Given the description of an element on the screen output the (x, y) to click on. 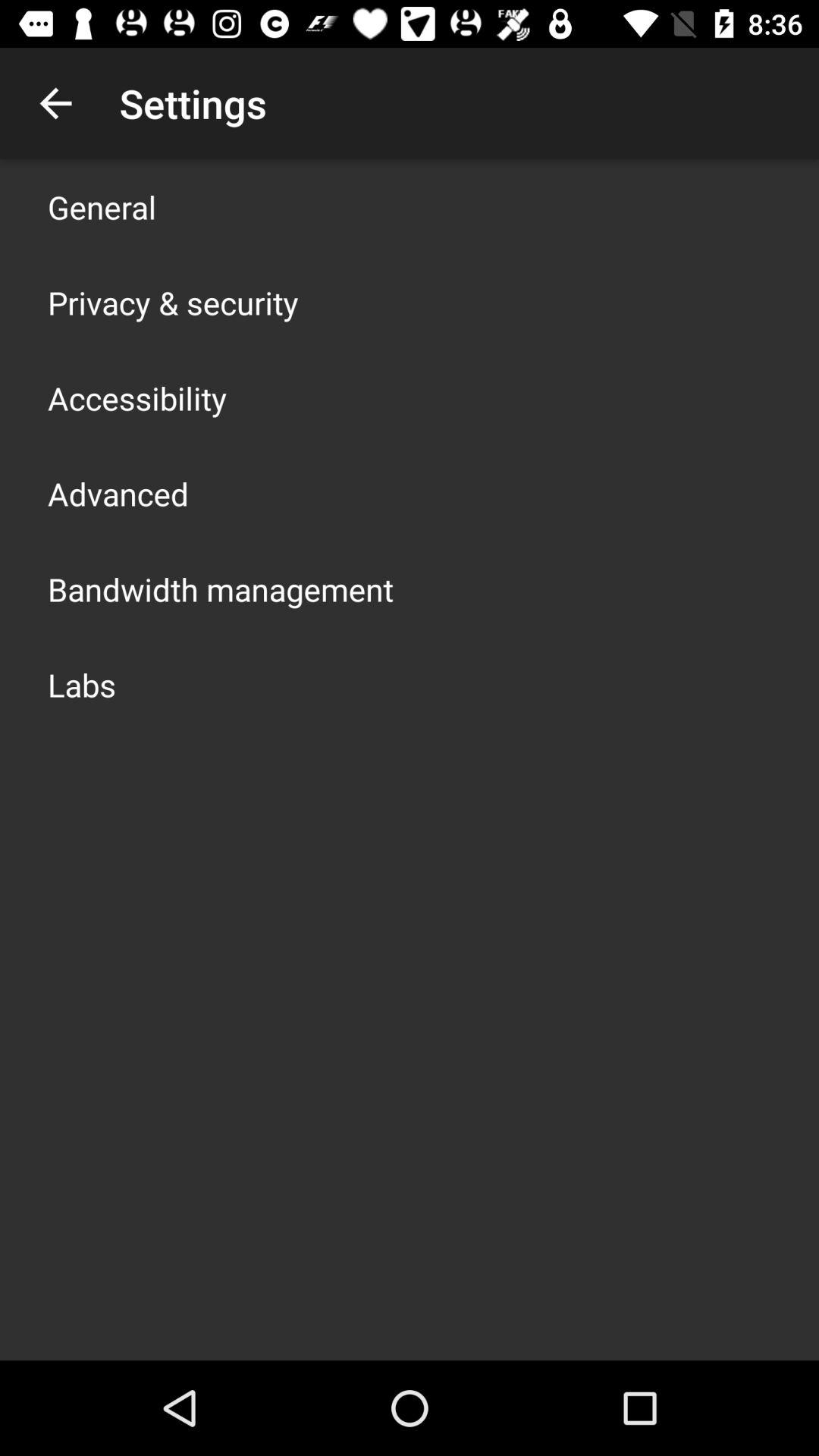
turn on the icon below bandwidth management item (81, 684)
